Given the description of an element on the screen output the (x, y) to click on. 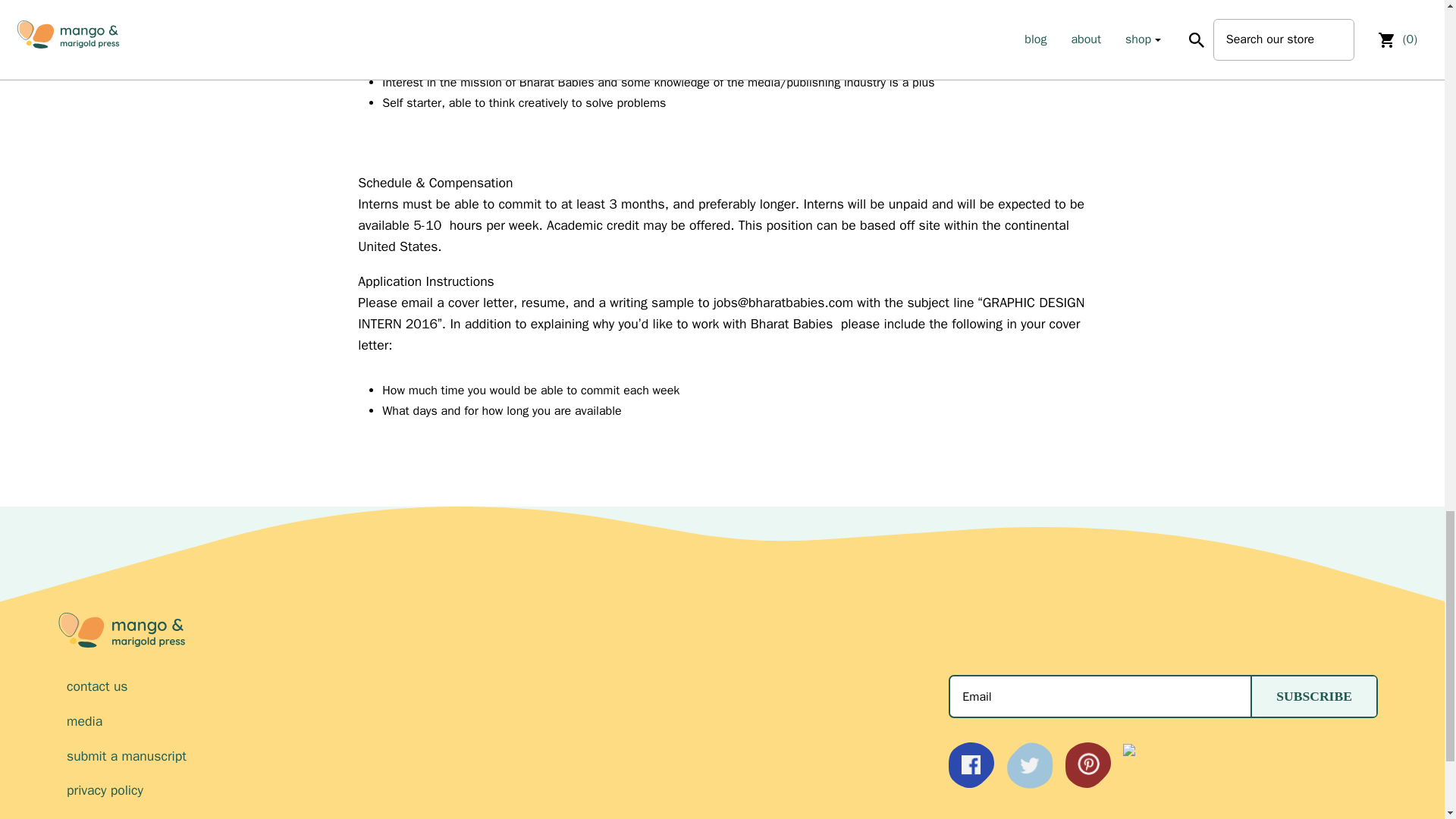
media (501, 721)
SUBSCRIBE (1312, 696)
submit a manuscript (501, 755)
privacy policy (501, 789)
contact us (501, 685)
